Given the description of an element on the screen output the (x, y) to click on. 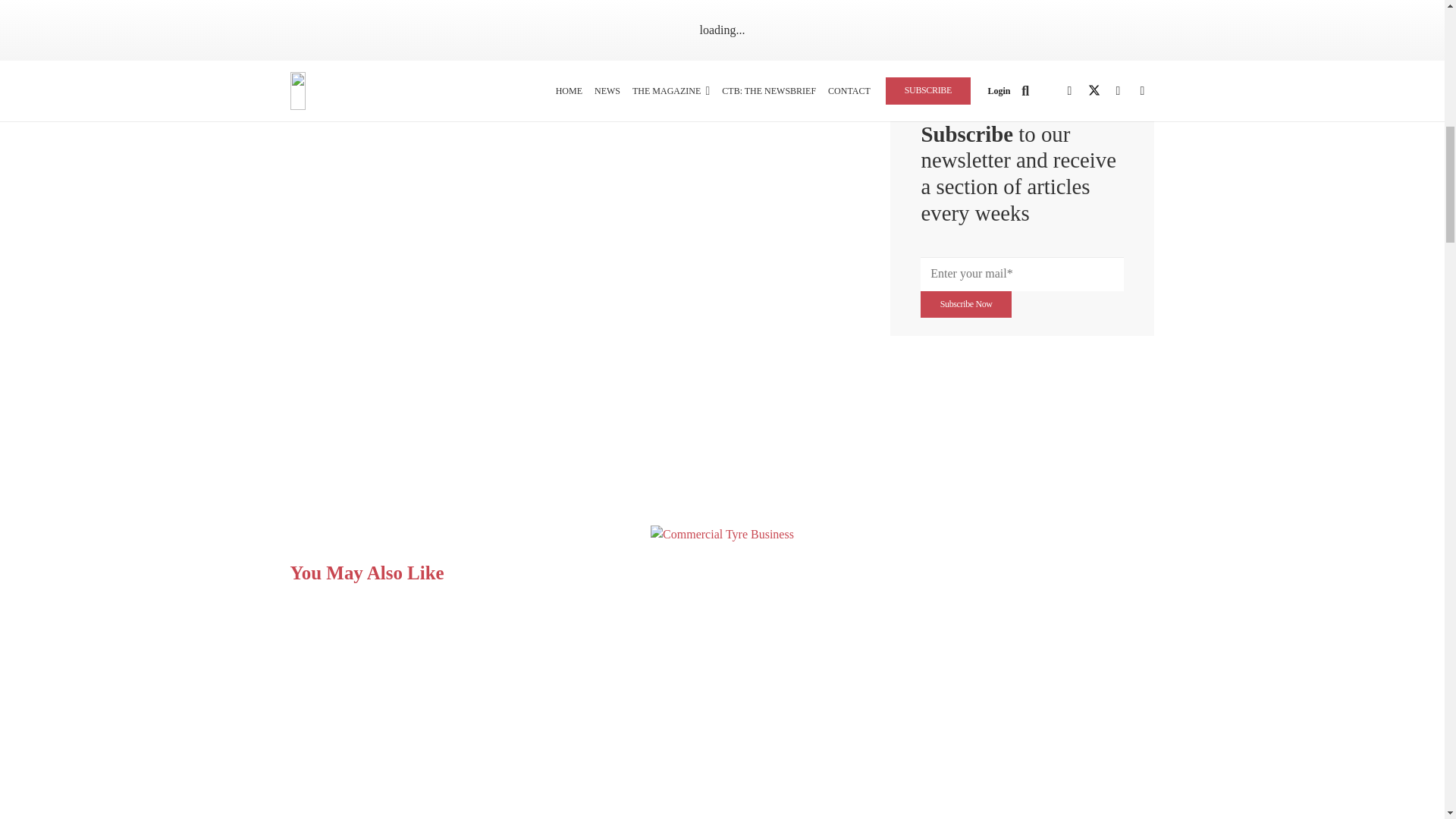
Subscribe Now (965, 304)
